Given the description of an element on the screen output the (x, y) to click on. 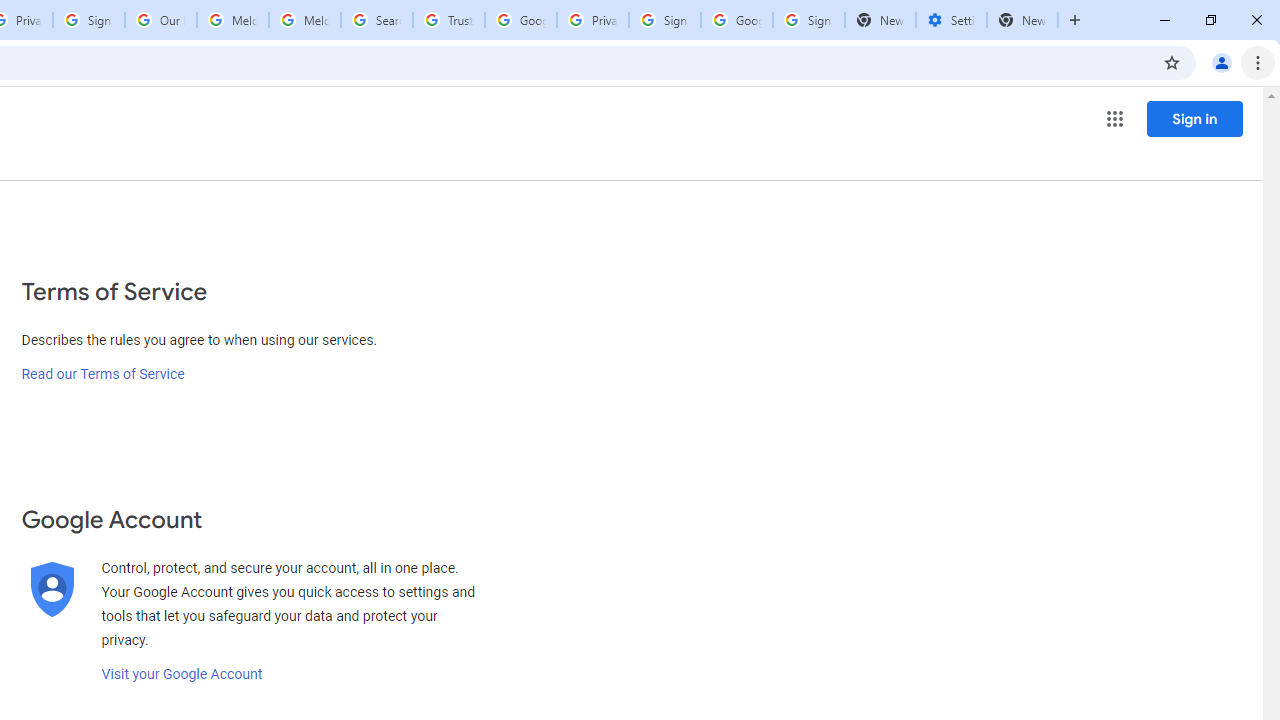
Sign in - Google Accounts (88, 20)
Trusted Information and Content - Google Safety Center (449, 20)
Sign in (1194, 118)
Google Cybersecurity Innovations - Google Safety Center (737, 20)
Sign in - Google Accounts (664, 20)
New Tab (1022, 20)
